Given the description of an element on the screen output the (x, y) to click on. 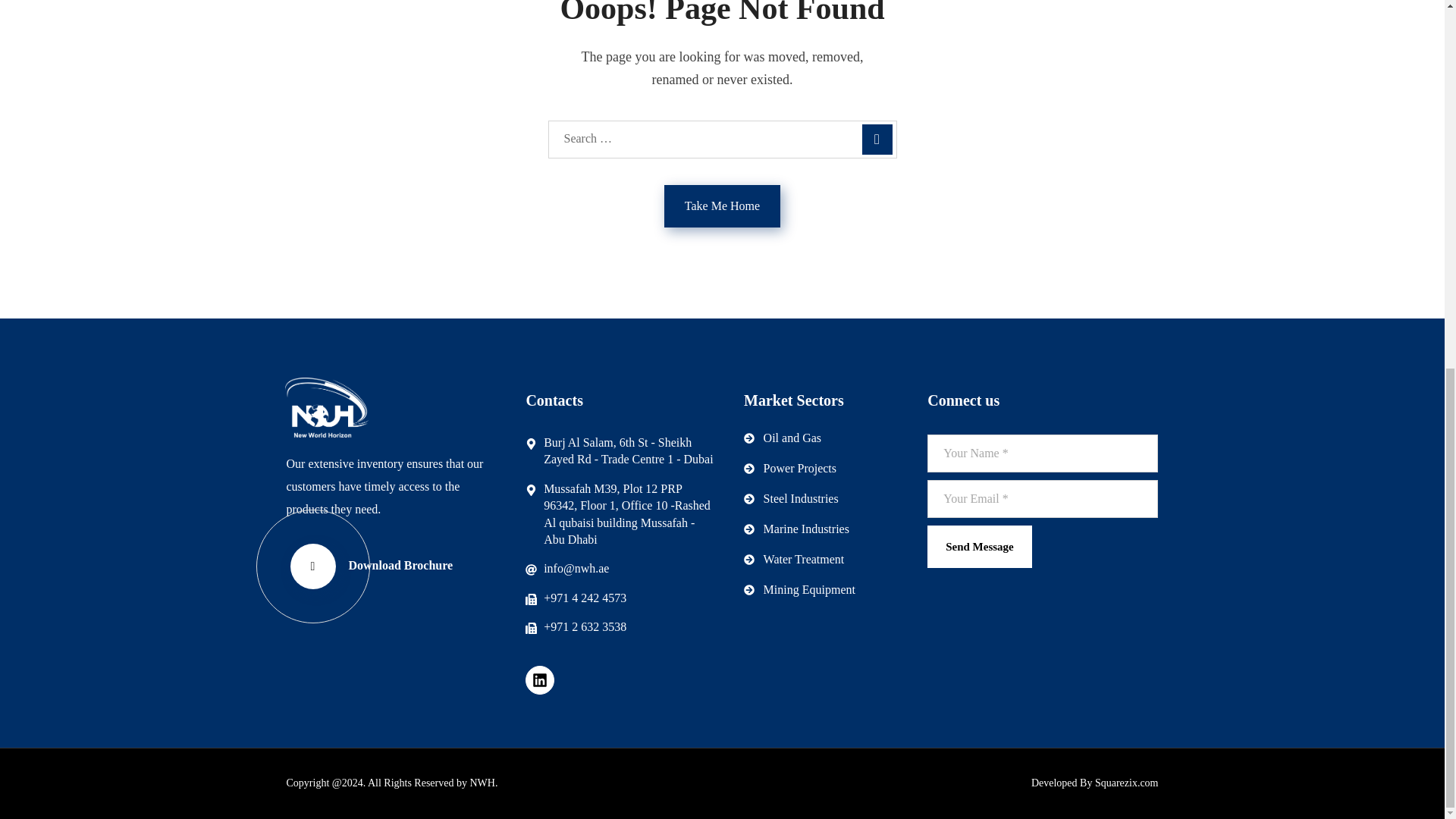
LinkedIn (539, 679)
